Given the description of an element on the screen output the (x, y) to click on. 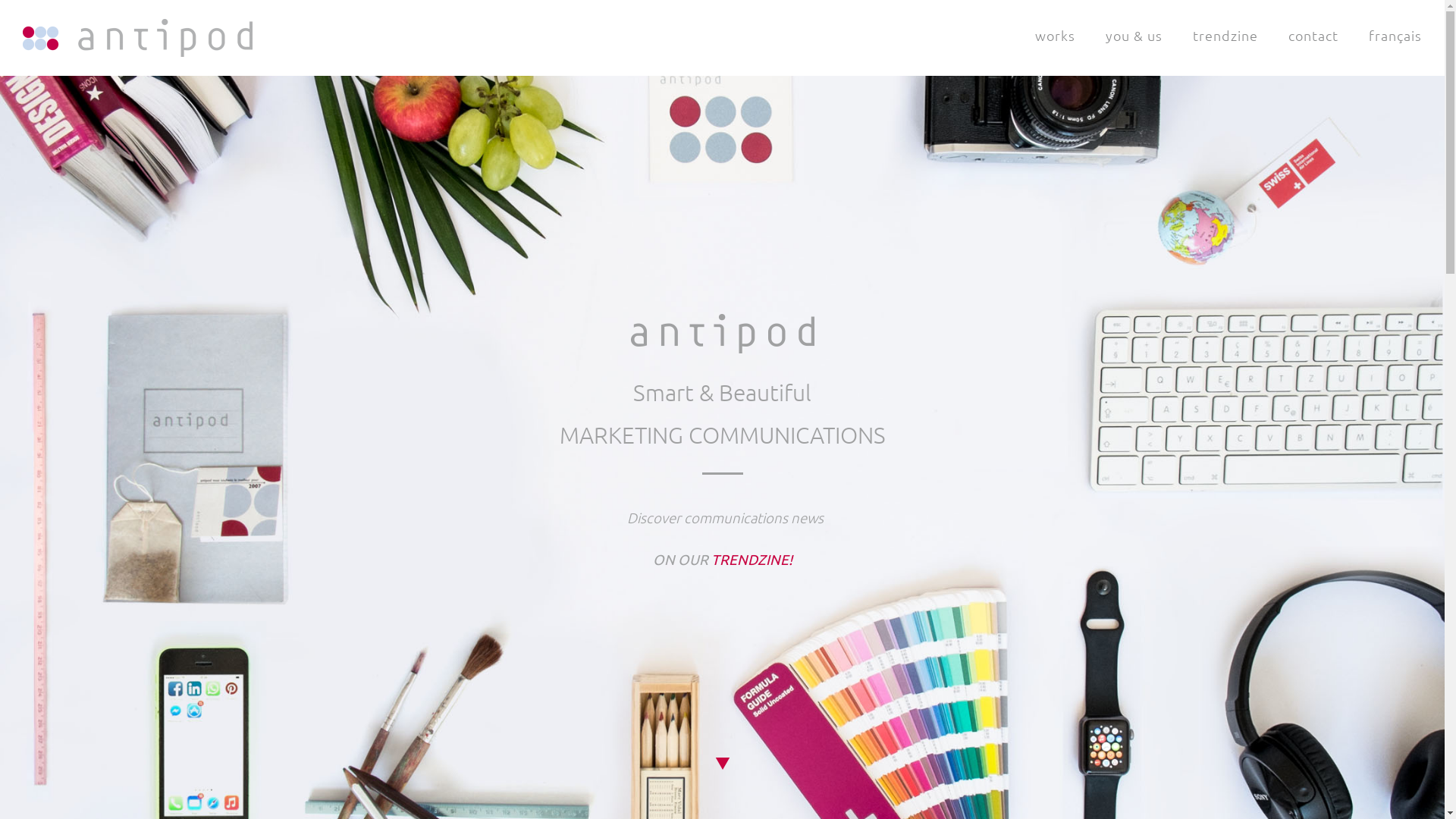
trendzine Element type: text (1225, 34)
you & us Element type: text (1133, 34)
works Element type: text (1054, 34)
TRENDZINE! Element type: text (751, 558)
contact Element type: text (1313, 34)
